Given the description of an element on the screen output the (x, y) to click on. 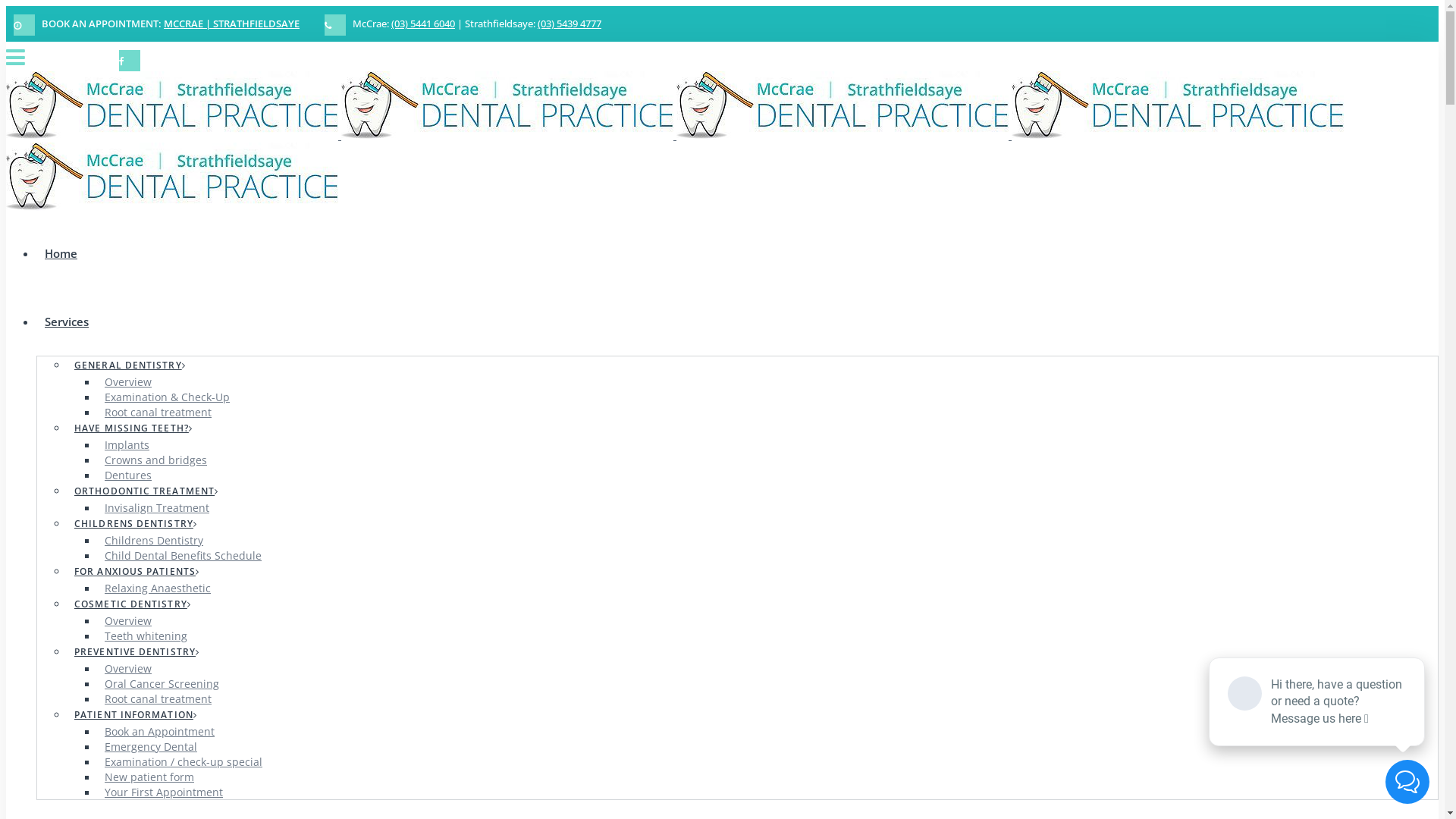
GENERAL DENTISTRY Element type: text (129, 365)
Examination & Check-Up Element type: text (166, 396)
Teeth whitening Element type: text (145, 635)
Root canal treatment Element type: text (157, 698)
Overview Element type: text (127, 381)
PREVENTIVE DENTISTRY Element type: text (136, 651)
Home Element type: text (60, 252)
Invisalign Treatment Element type: text (156, 507)
Relaxing Anaesthetic Element type: text (157, 587)
(03) 5441 6040 Element type: text (423, 23)
Dentures Element type: text (127, 474)
COSMETIC DENTISTRY Element type: text (132, 604)
Overview Element type: text (127, 668)
Childrens Dentistry Element type: text (153, 540)
HAVE MISSING TEETH? Element type: text (133, 428)
ORTHODONTIC TREATMENT Element type: text (146, 491)
Services Element type: text (66, 321)
Implants Element type: text (126, 444)
STRATHFIELDSAYE Element type: text (256, 23)
New patient form Element type: text (148, 776)
MCCRAE | Element type: text (188, 23)
Examination / check-up special Element type: text (183, 761)
Your First Appointment Element type: text (163, 791)
Crowns and bridges Element type: text (155, 459)
Overview Element type: text (127, 620)
Book an Appointment Element type: text (159, 731)
Root canal treatment Element type: text (157, 411)
FOR ANXIOUS PATIENTS Element type: text (136, 571)
(03) 5439 4777 Element type: text (569, 23)
PATIENT INFORMATION Element type: text (135, 714)
Child Dental Benefits Schedule Element type: text (182, 555)
Emergency Dental Element type: text (150, 746)
CHILDRENS DENTISTRY Element type: text (135, 523)
Oral Cancer Screening Element type: text (161, 683)
